Given the description of an element on the screen output the (x, y) to click on. 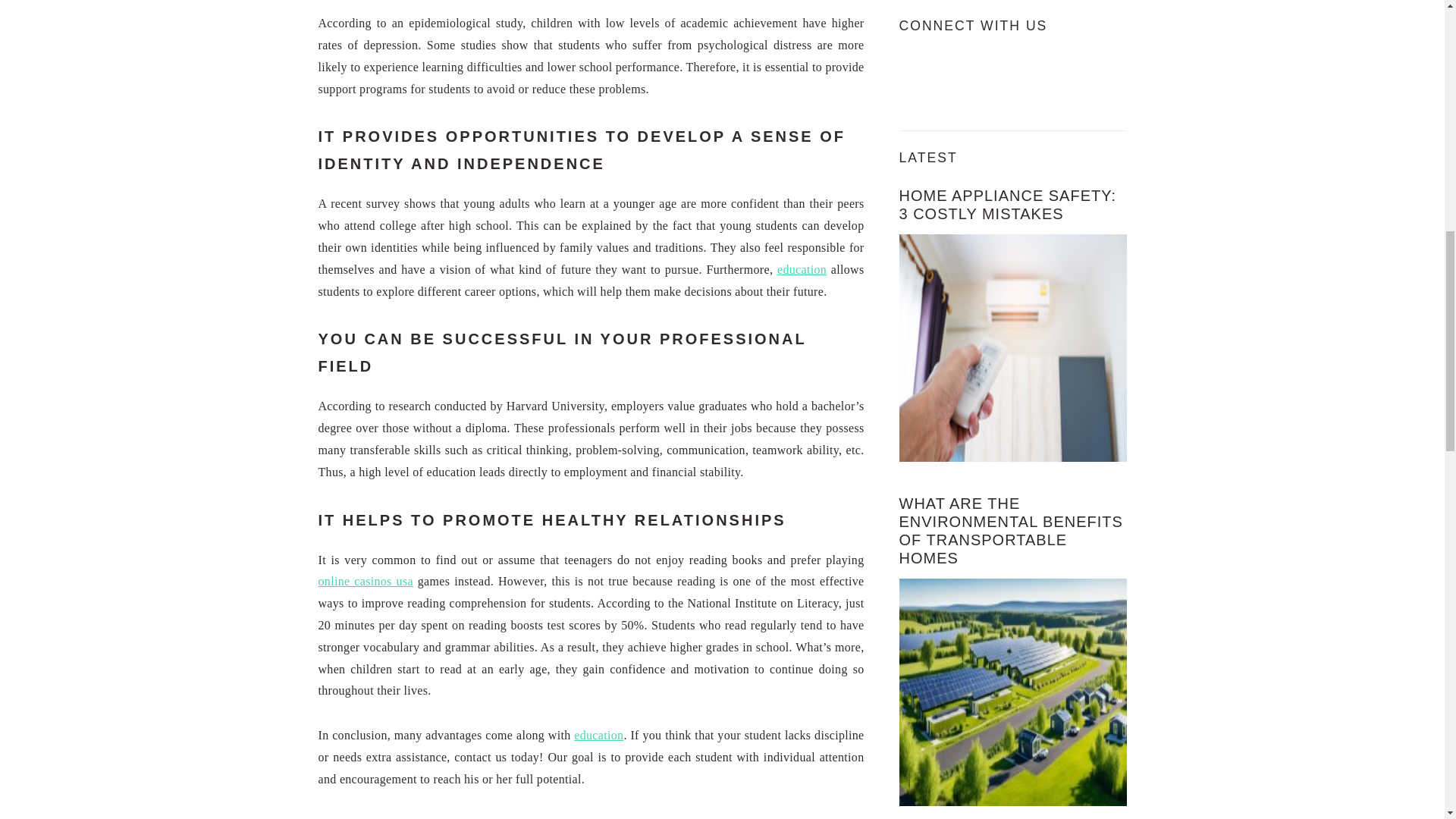
HOME APPLIANCE SAFETY: 3 COSTLY MISTAKES (1007, 204)
online casinos usa (365, 581)
education (802, 269)
WHAT ARE THE ENVIRONMENTAL BENEFITS OF TRANSPORTABLE HOMES (1010, 530)
education (598, 735)
Home Appliance Safety: 3 Costly Mistakes (1012, 347)
What are the Environmental Benefits of Transportable Homes (1012, 691)
